Given the description of an element on the screen output the (x, y) to click on. 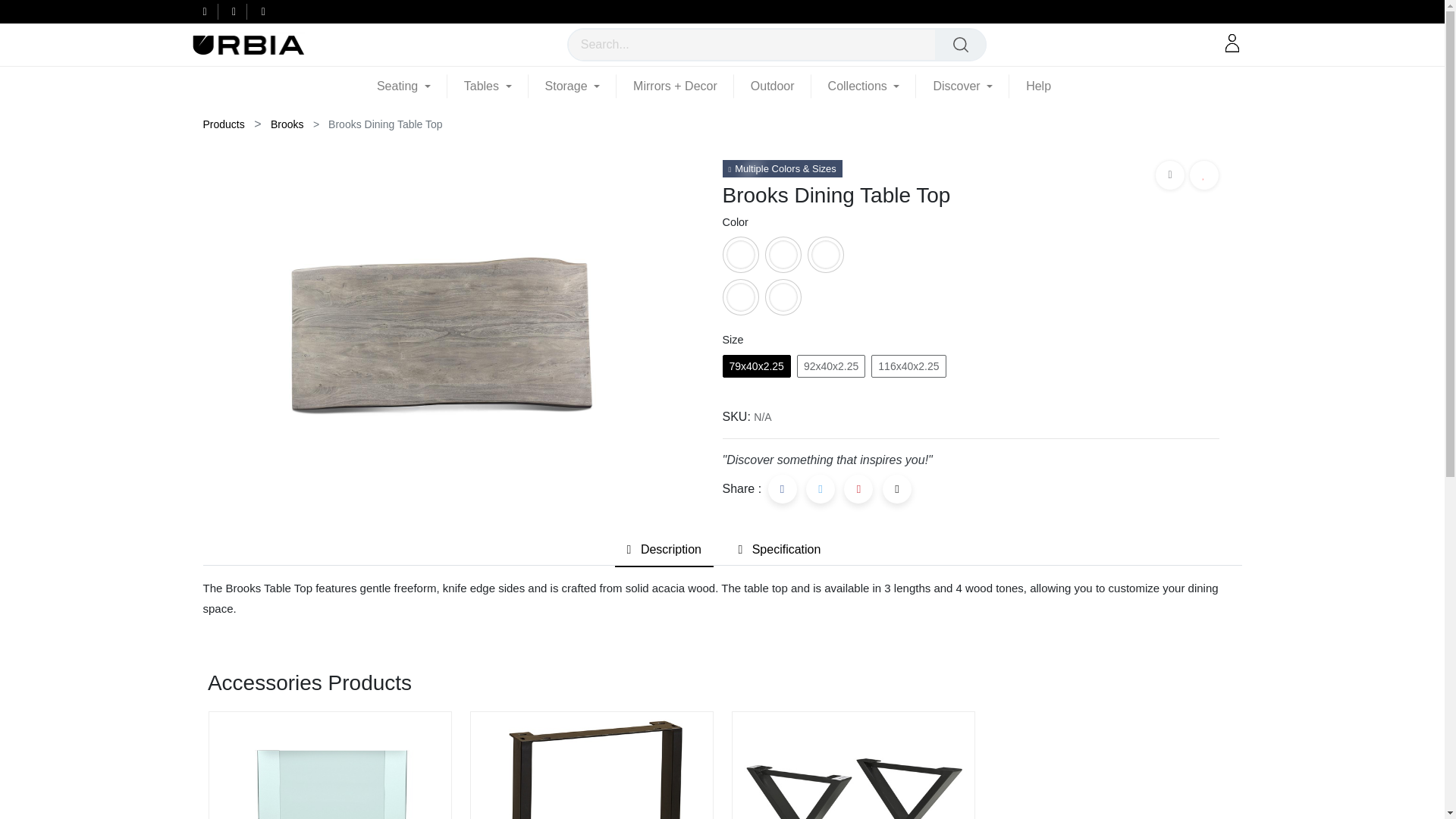
Tables (487, 85)
Storage (572, 85)
Outdoor (771, 85)
Search (960, 44)
Seating (411, 85)
Collections (863, 85)
Urbia Imports (247, 44)
